Given the description of an element on the screen output the (x, y) to click on. 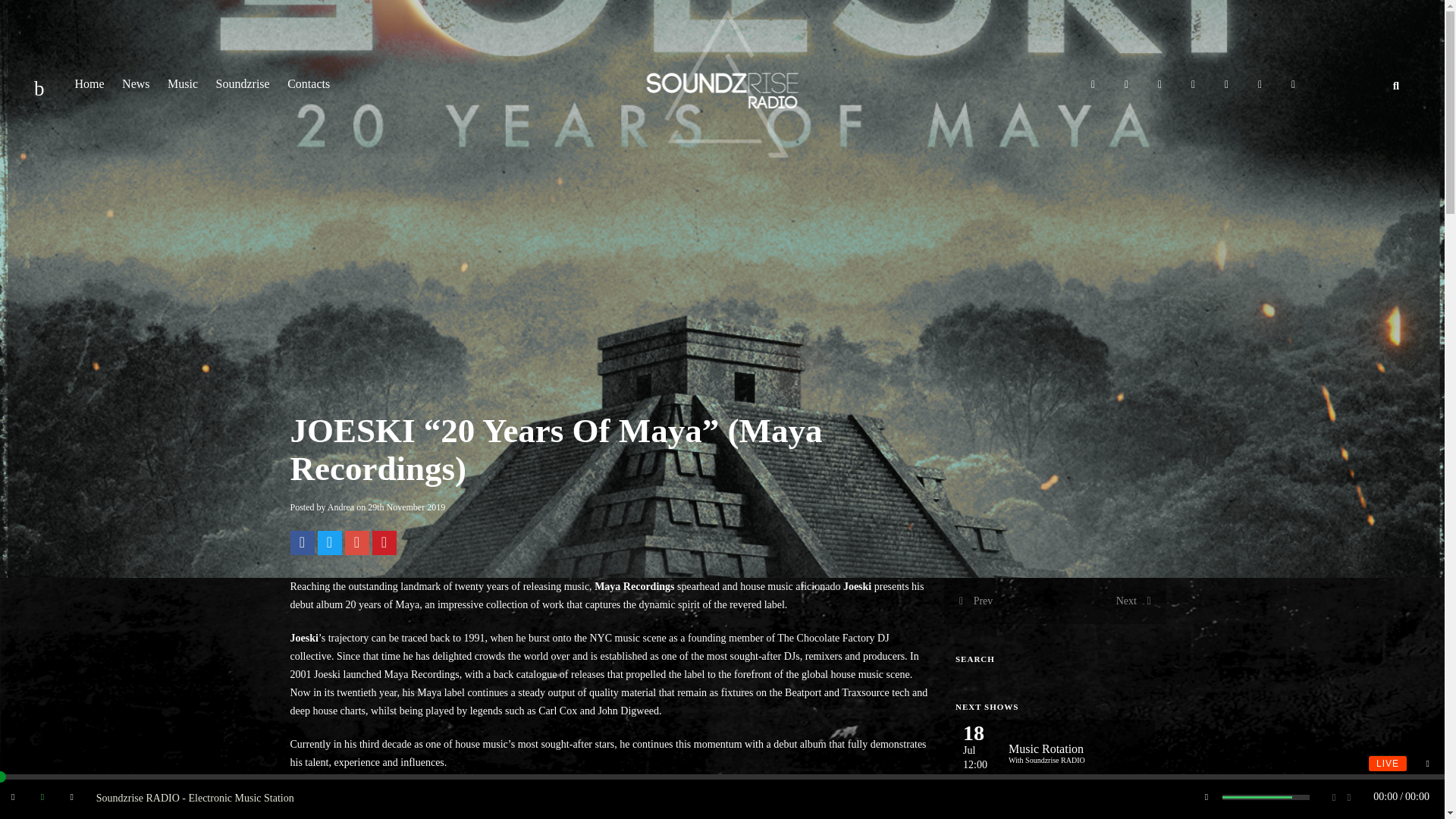
Home (89, 84)
29th November 2019 (406, 507)
Next (1133, 600)
Contacts (308, 84)
Soundzrise (243, 84)
Prev (975, 600)
News (136, 84)
Music (182, 84)
VIEW ALL SHOWS (1054, 807)
